Given the description of an element on the screen output the (x, y) to click on. 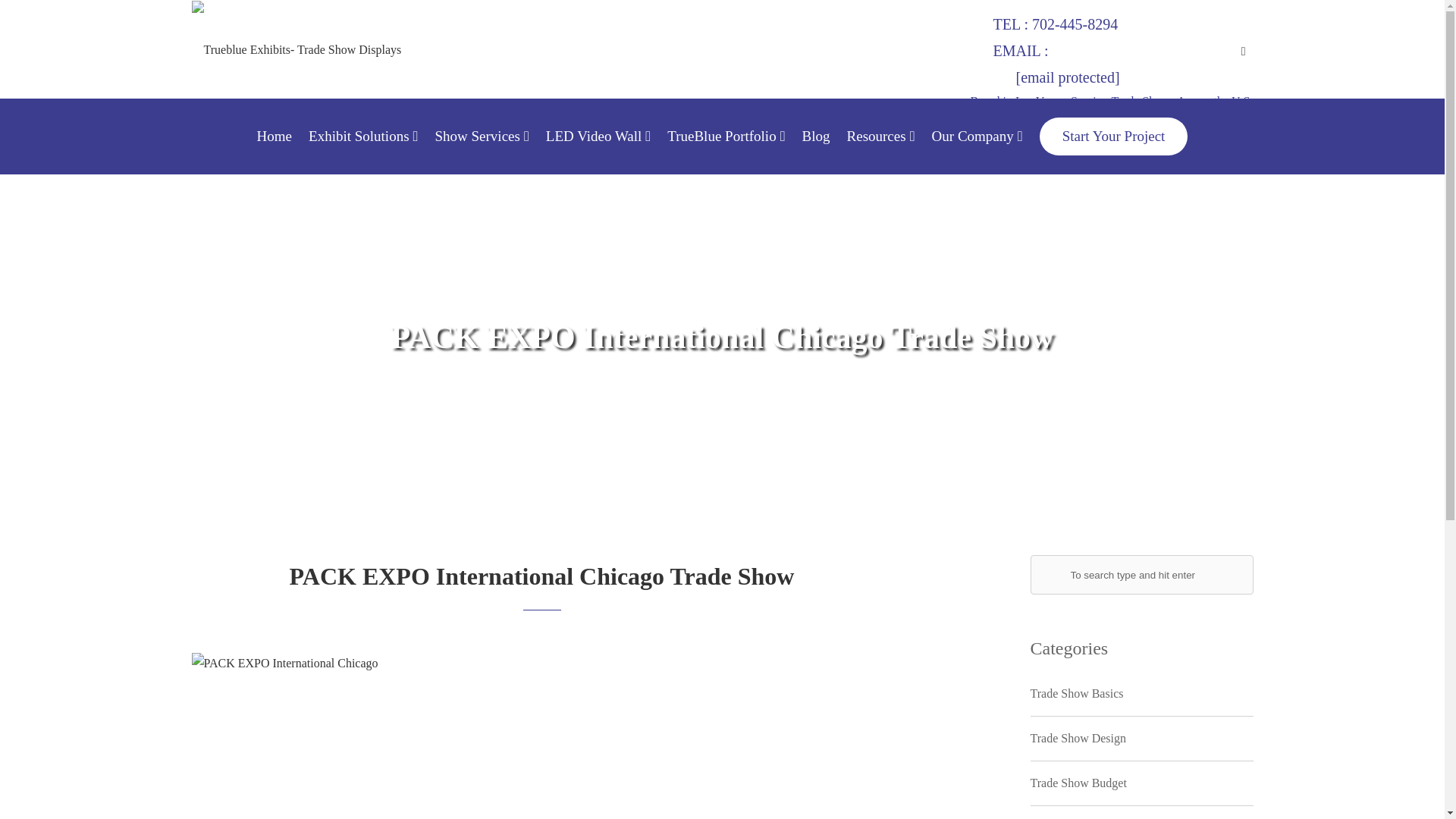
Resources (881, 136)
LED Video Wall (598, 136)
TrueBlue Portfolio (725, 136)
Show Services (480, 136)
Exhibit Solutions (362, 136)
702-445-8294 (1075, 23)
Home (274, 136)
